Given the description of an element on the screen output the (x, y) to click on. 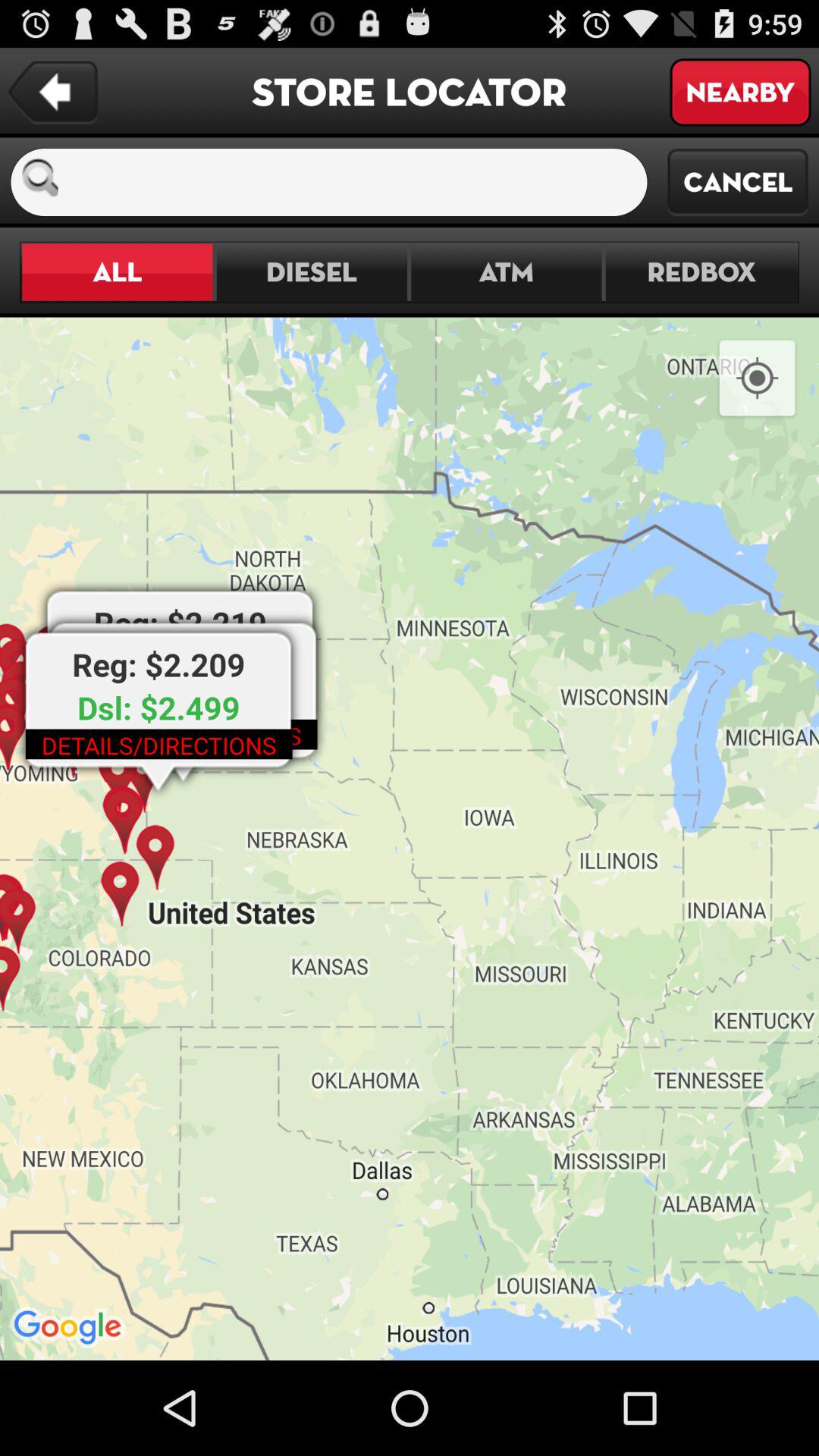
select item at the center (409, 838)
